Given the description of an element on the screen output the (x, y) to click on. 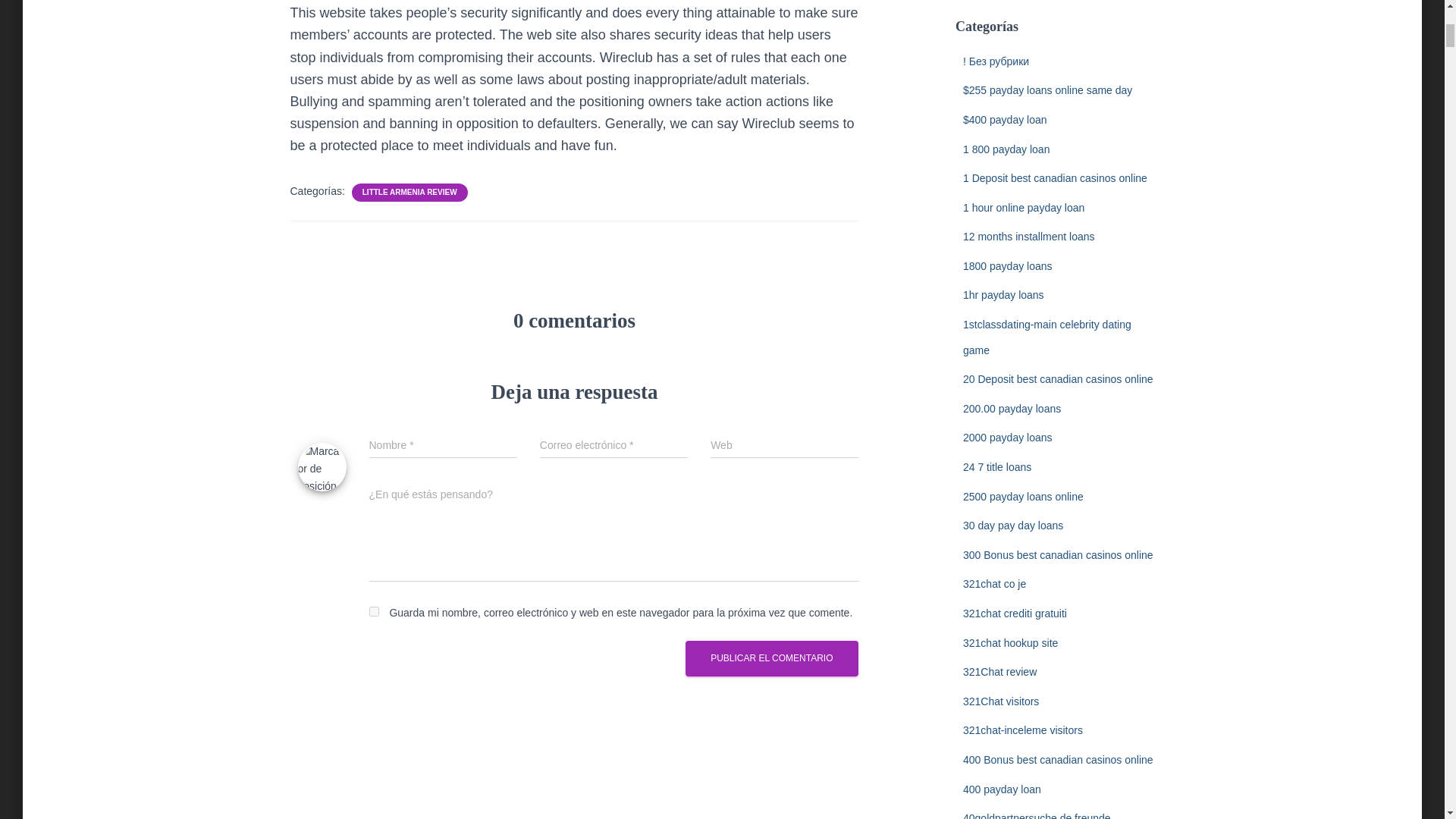
Publicar el comentario (771, 658)
Publicar el comentario (771, 658)
LITTLE ARMENIA REVIEW (409, 192)
yes (373, 611)
